Given the description of an element on the screen output the (x, y) to click on. 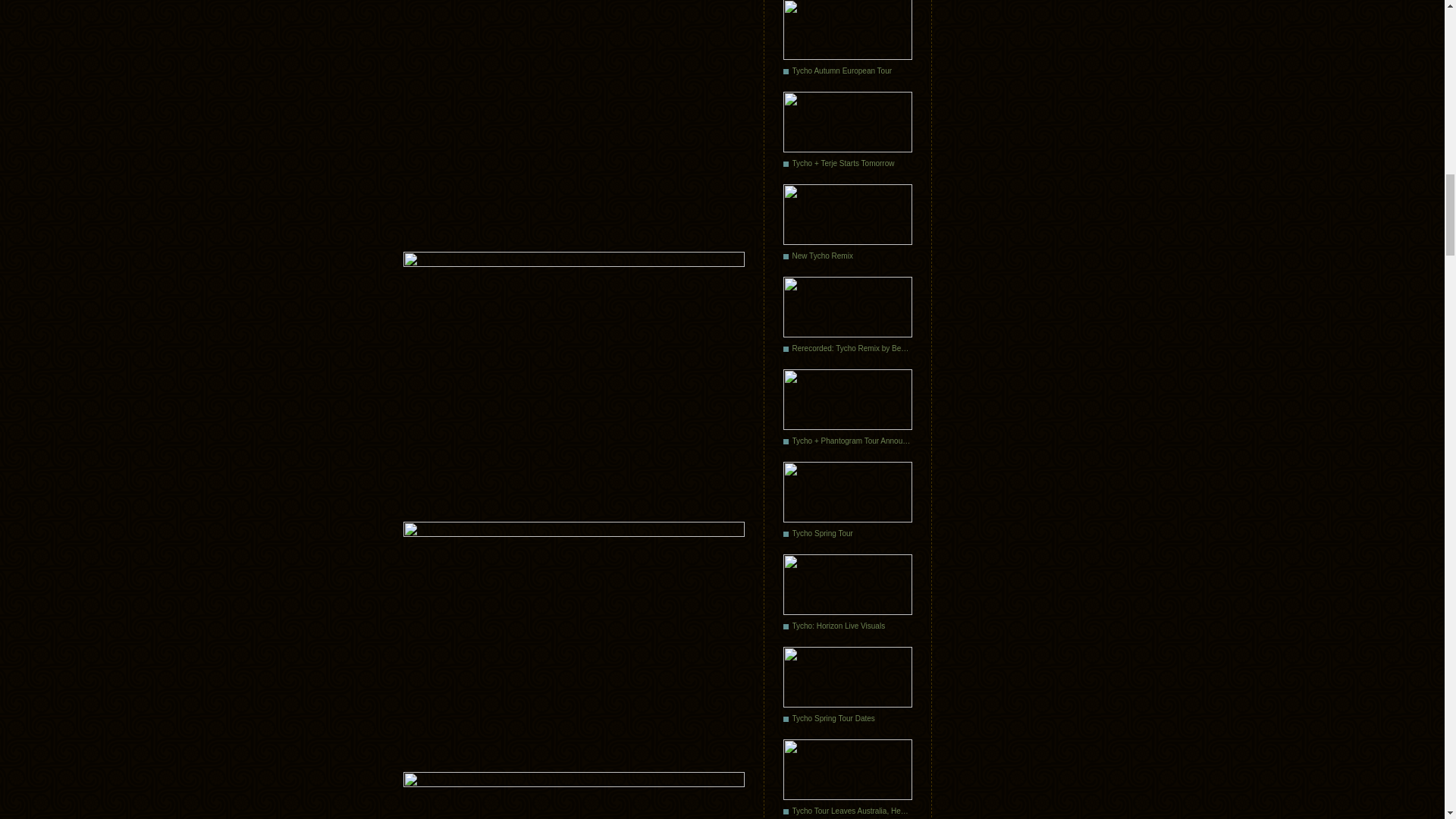
goyovctorganandoelmaspalomas4c (573, 639)
delta16vgr.ntrellessanremo1990s.luce (573, 378)
m1-bmw-marlboro (573, 118)
